Given the description of an element on the screen output the (x, y) to click on. 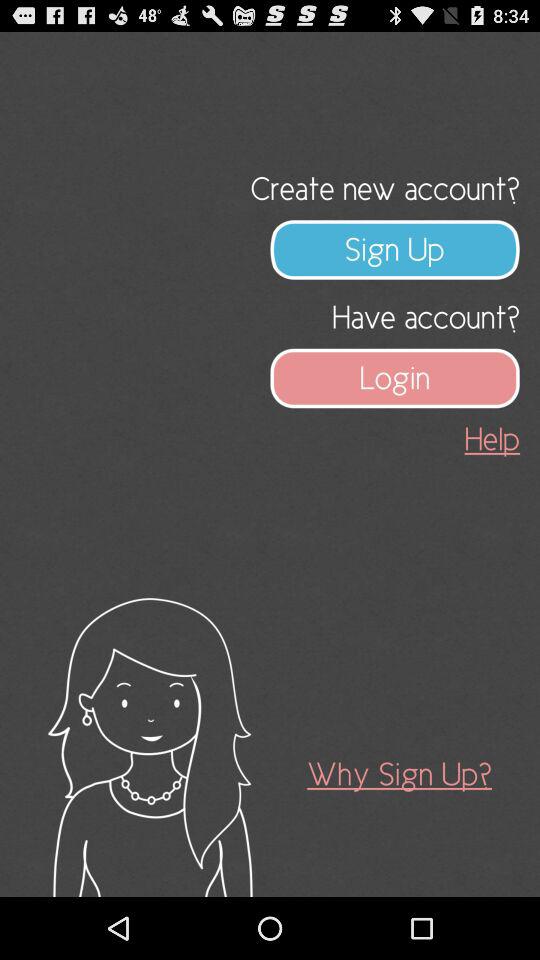
click the help item (492, 438)
